Given the description of an element on the screen output the (x, y) to click on. 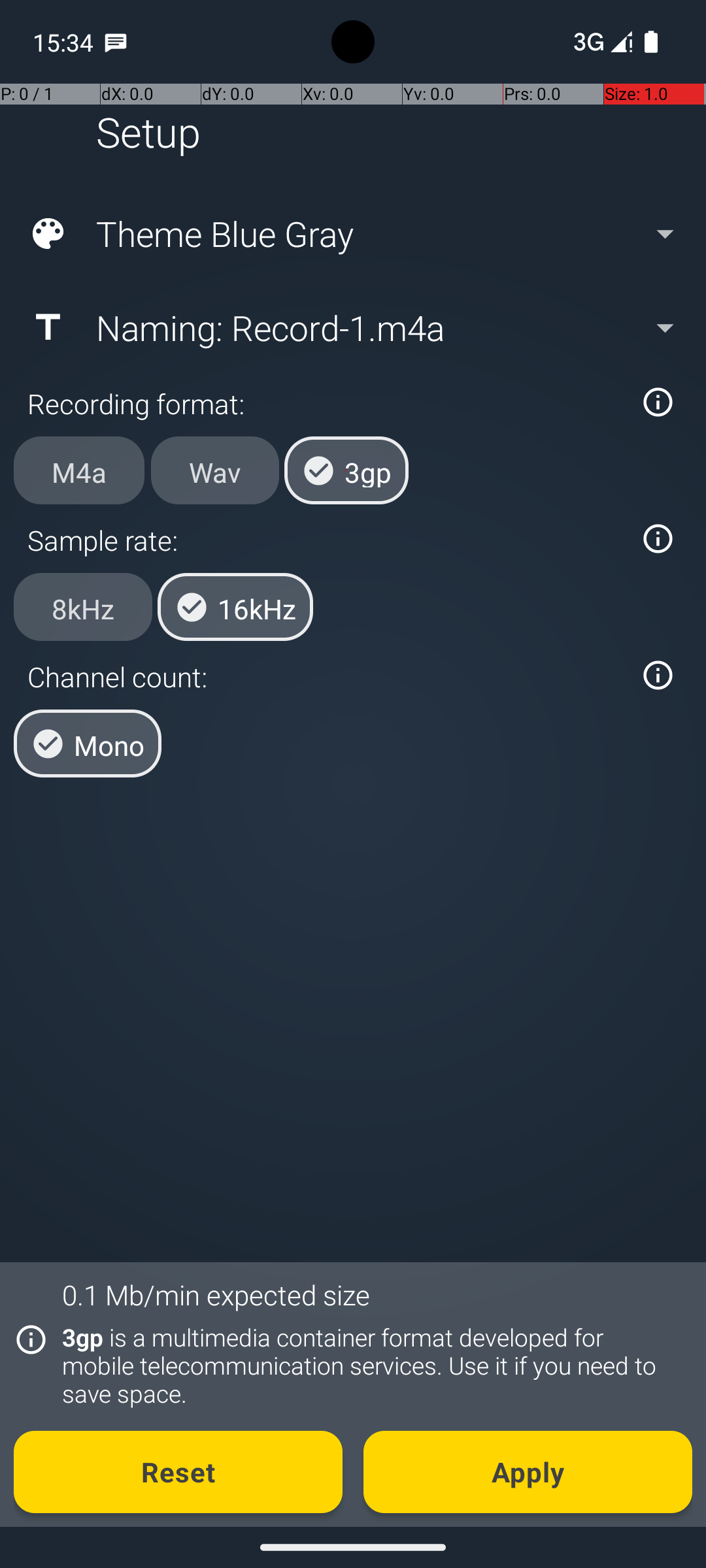
0.1 Mb/min expected size Element type: android.widget.TextView (215, 1294)
3gp is a multimedia container format developed for mobile telecommunication services. Use it if you need to save space. Element type: android.widget.TextView (370, 1364)
